Given the description of an element on the screen output the (x, y) to click on. 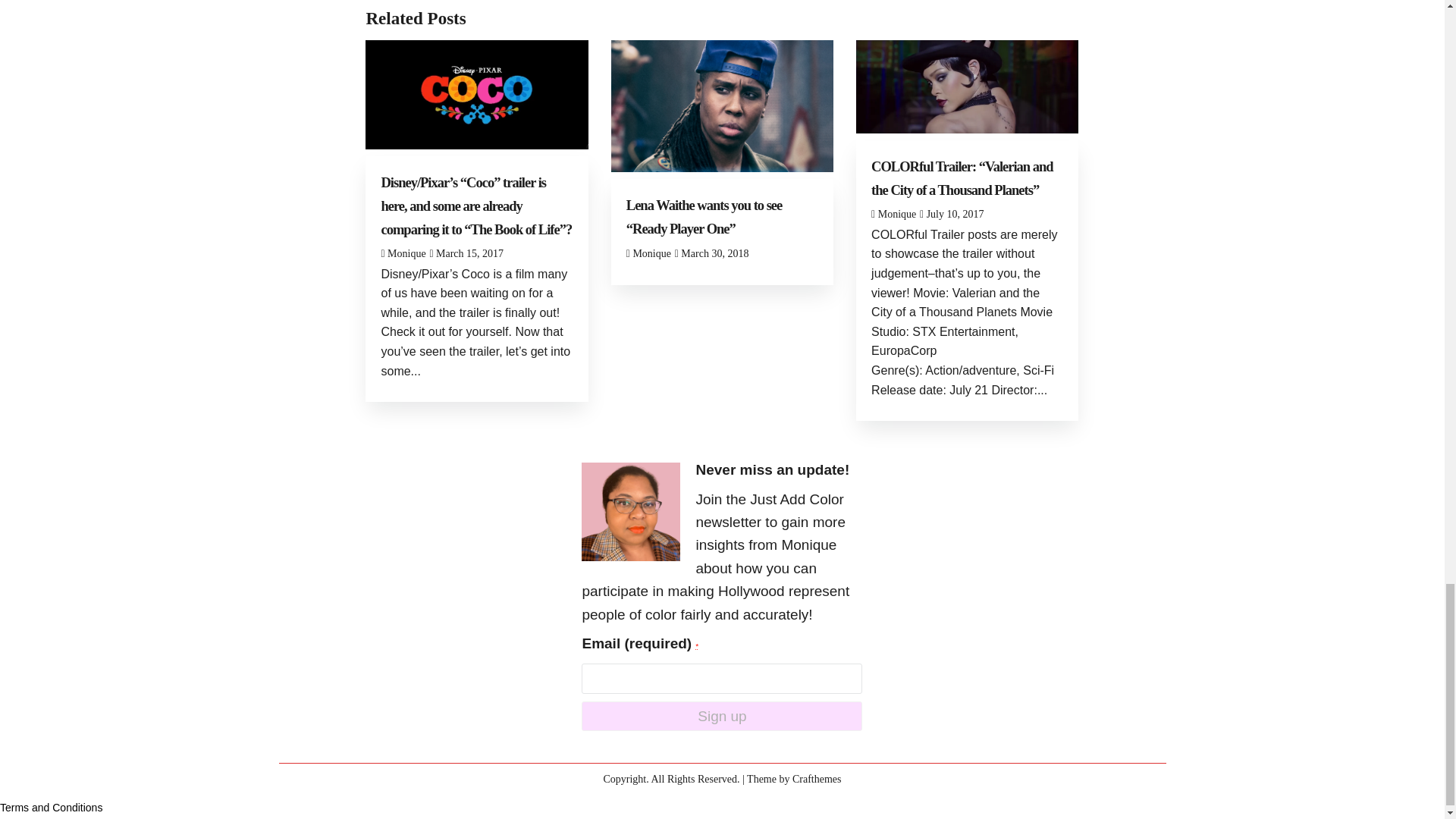
Sign up (720, 715)
